Given the description of an element on the screen output the (x, y) to click on. 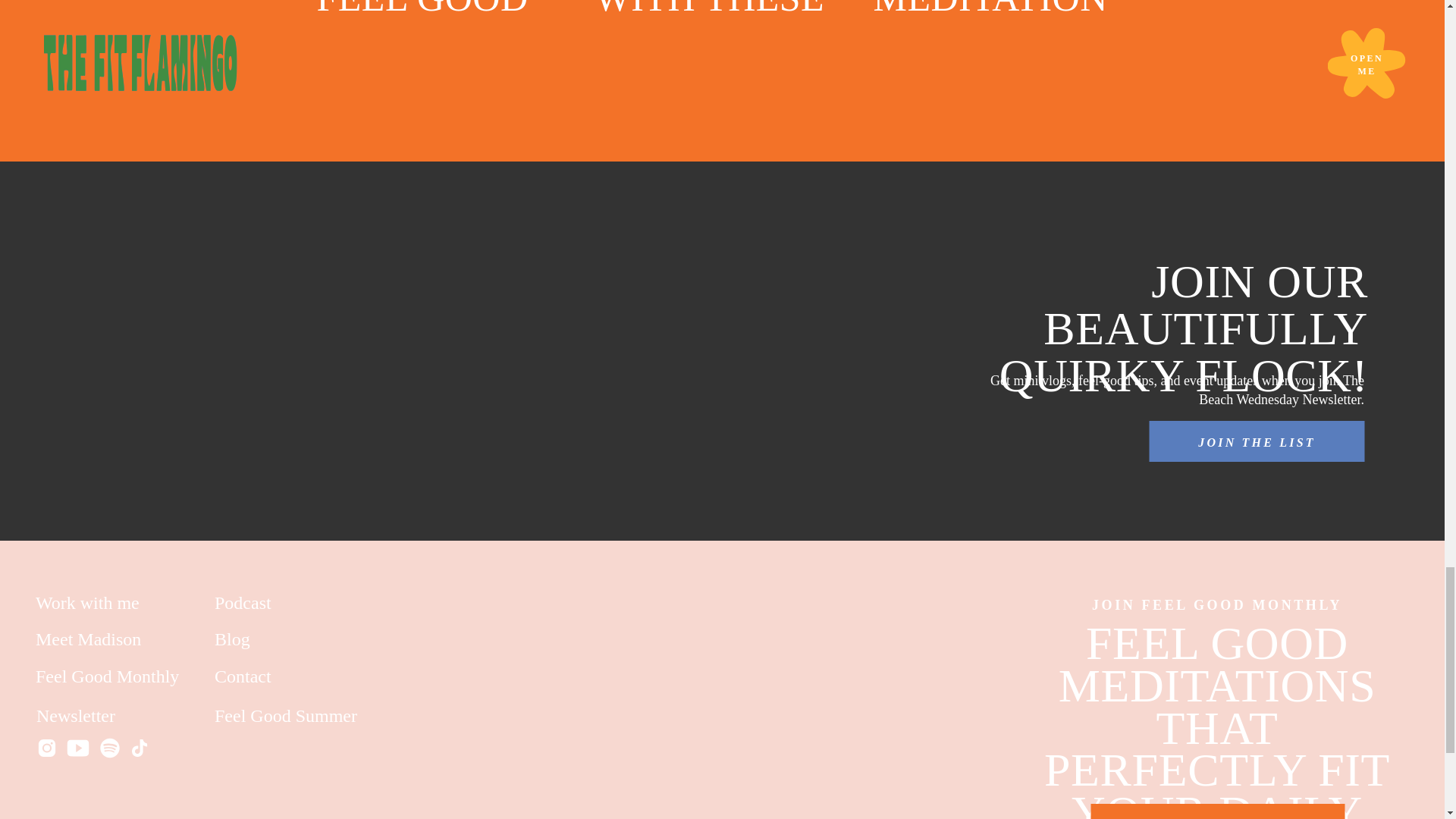
Reset your nervous system with these 3 tips (654, 44)
RESET YOUR NERVOUS SYSTEM WITH THESE 3 TIPS (711, 28)
